Given the description of an element on the screen output the (x, y) to click on. 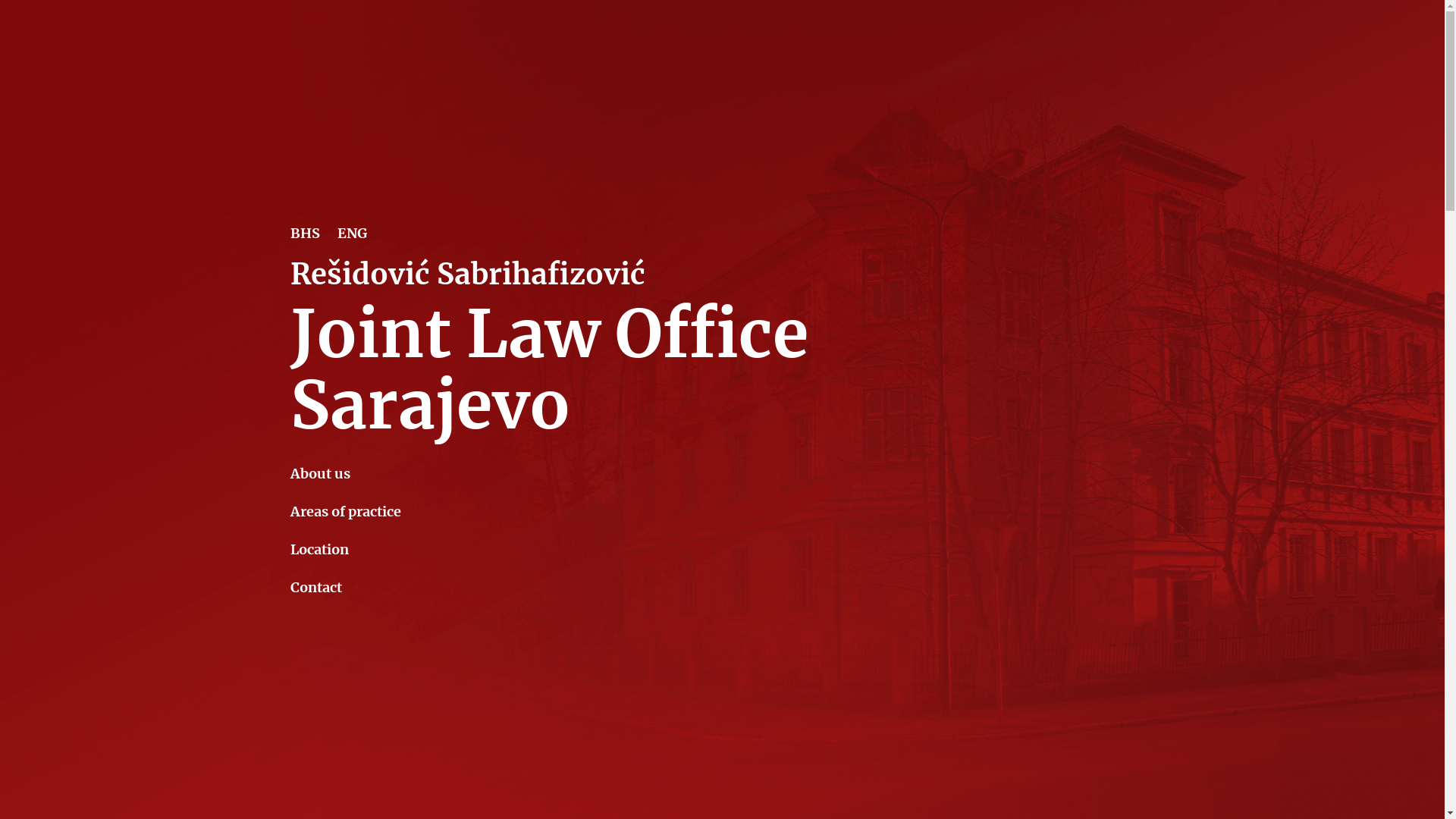
BHS Element type: text (304, 232)
Areas of practice Element type: text (344, 511)
Location Element type: text (344, 549)
Contact Element type: text (344, 587)
ENG Element type: text (351, 232)
About us Element type: text (344, 473)
